Given the description of an element on the screen output the (x, y) to click on. 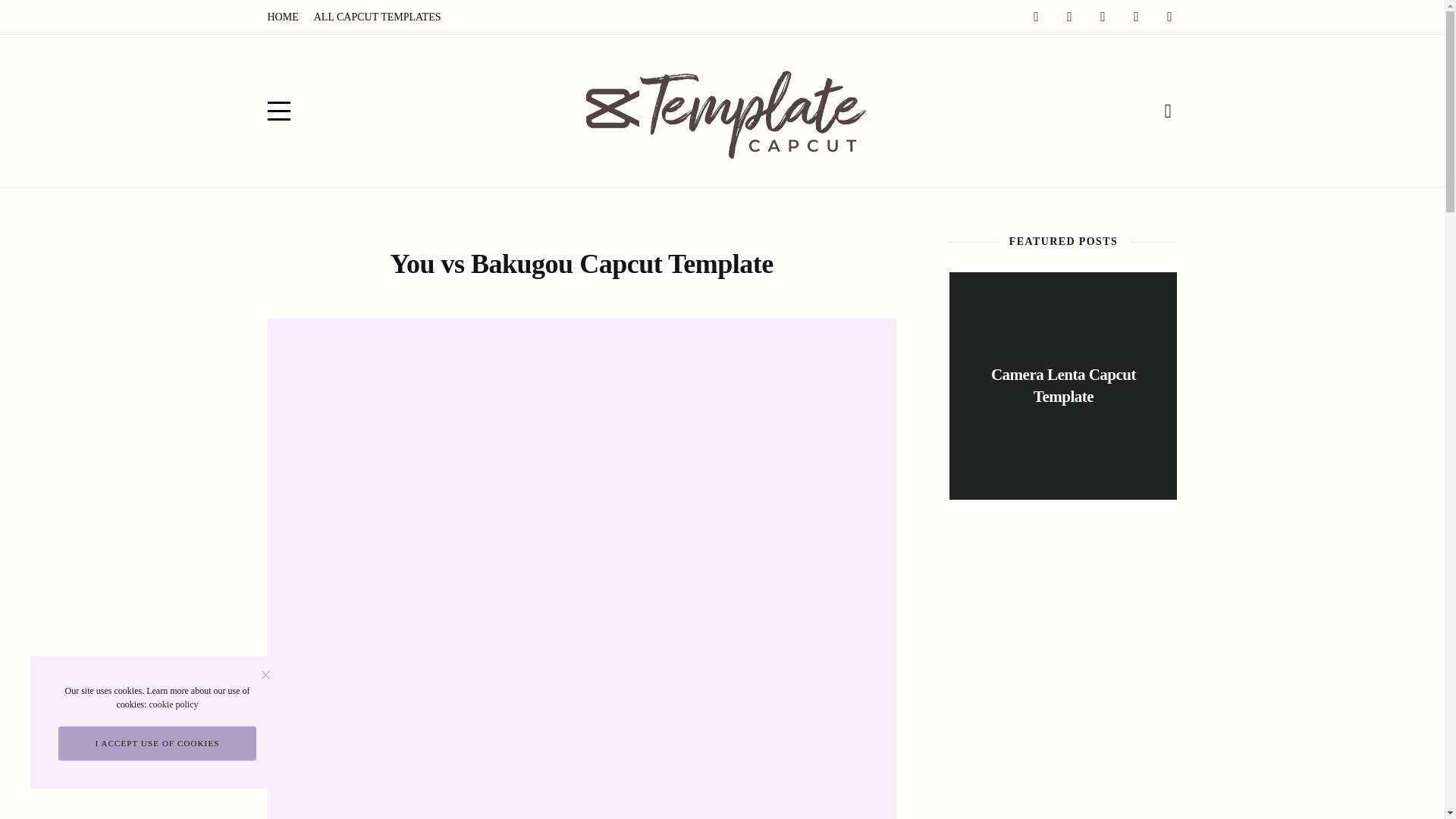
Pinterest (1135, 15)
Twitter (1102, 15)
HOME (282, 17)
Latest CapCut Templates for reels (722, 111)
Instagram (1069, 15)
Facebook (1036, 15)
YouTube (1169, 15)
ALL CAPCUT TEMPLATES (376, 17)
